Given the description of an element on the screen output the (x, y) to click on. 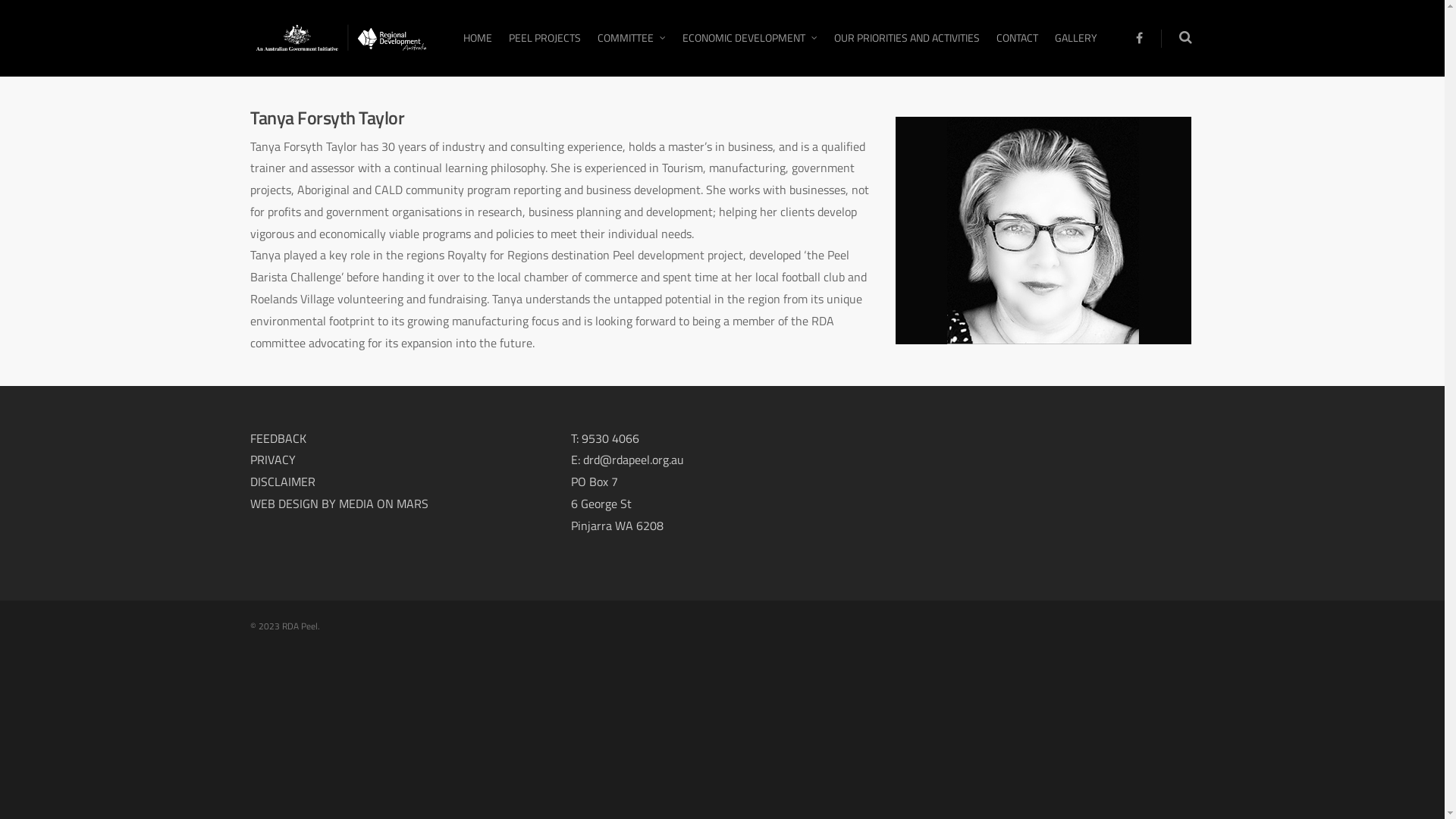
GALLERY Element type: text (1075, 48)
DISCLAIMER Element type: text (282, 481)
PEEL PROJECTS Element type: text (544, 48)
FEEDBACK Element type: text (278, 438)
ECONOMIC DEVELOPMENT Element type: text (749, 48)
drd@rdapeel.org.au Element type: text (633, 459)
OUR PRIORITIES AND ACTIVITIES Element type: text (906, 48)
9530 4066 Element type: text (610, 438)
CONTACT Element type: text (1016, 48)
WEB DESIGN BY MEDIA ON MARS Element type: text (339, 503)
COMMITTEE Element type: text (631, 48)
HOME Element type: text (477, 48)
PRIVACY Element type: text (272, 459)
